Given the description of an element on the screen output the (x, y) to click on. 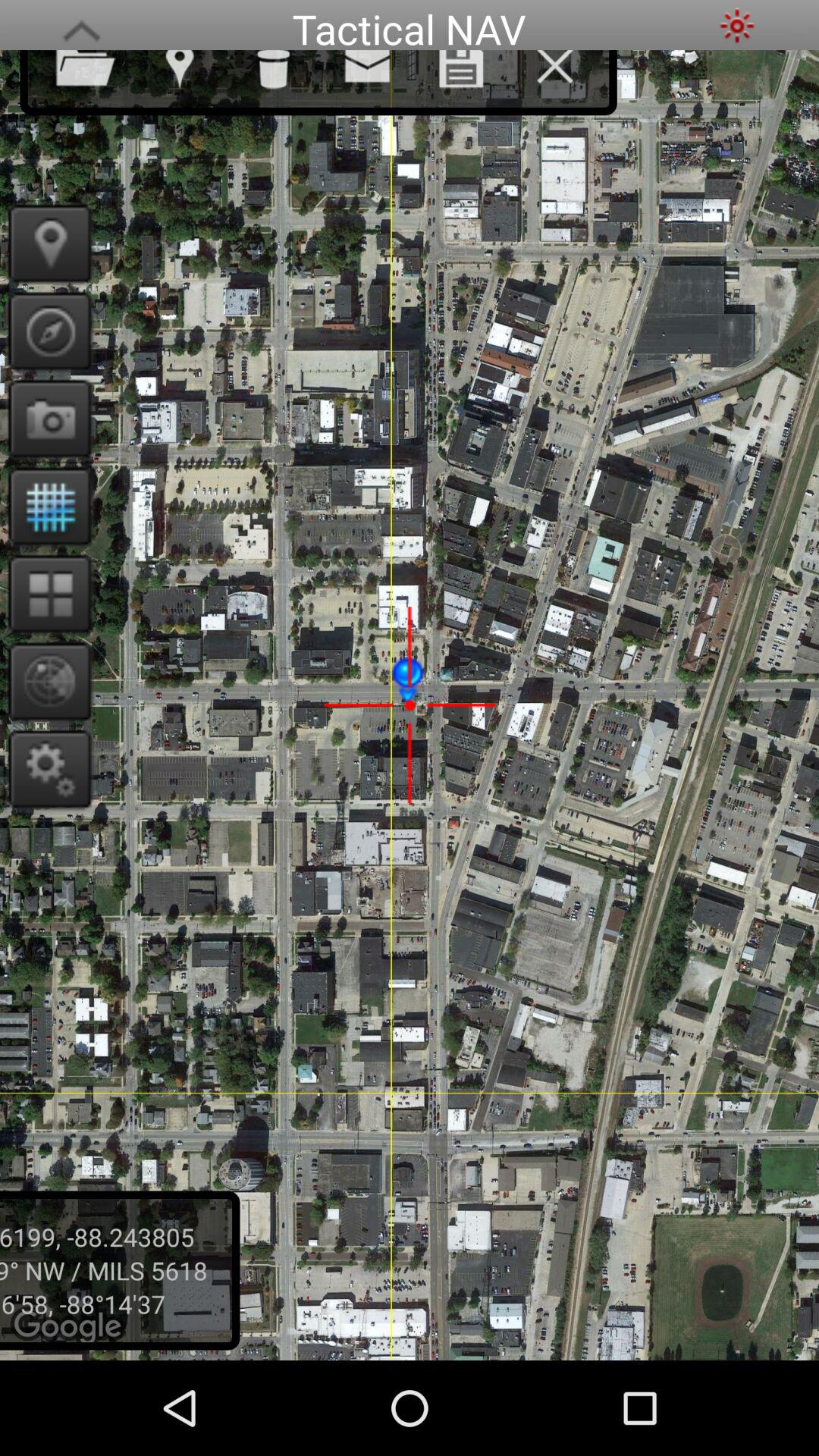
view map settings (45, 768)
